Given the description of an element on the screen output the (x, y) to click on. 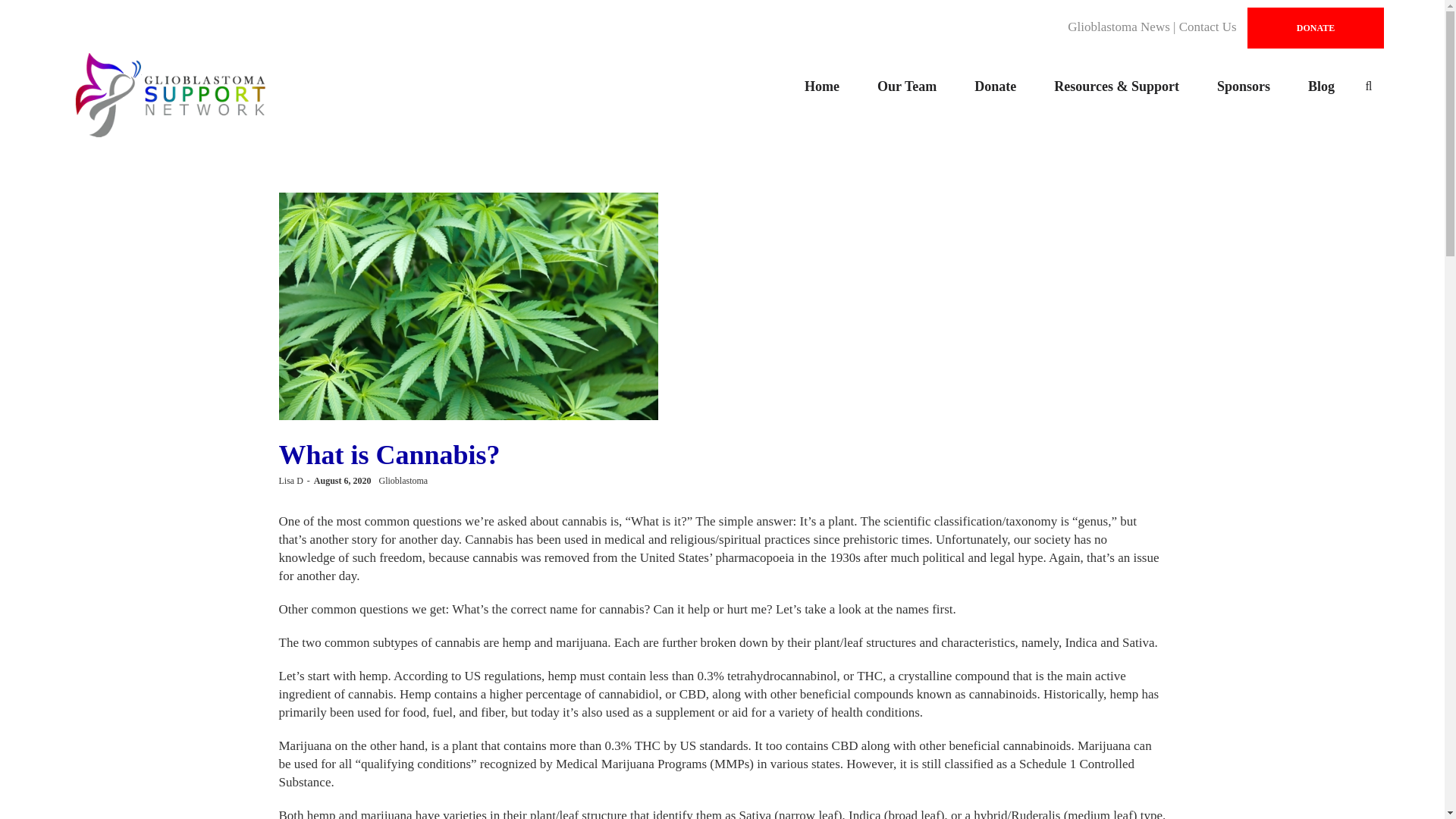
Home (821, 86)
Our Team (906, 86)
Donate (994, 86)
Glioblastoma News (1118, 26)
Contact Us (1207, 26)
DONATE (1315, 27)
